Given the description of an element on the screen output the (x, y) to click on. 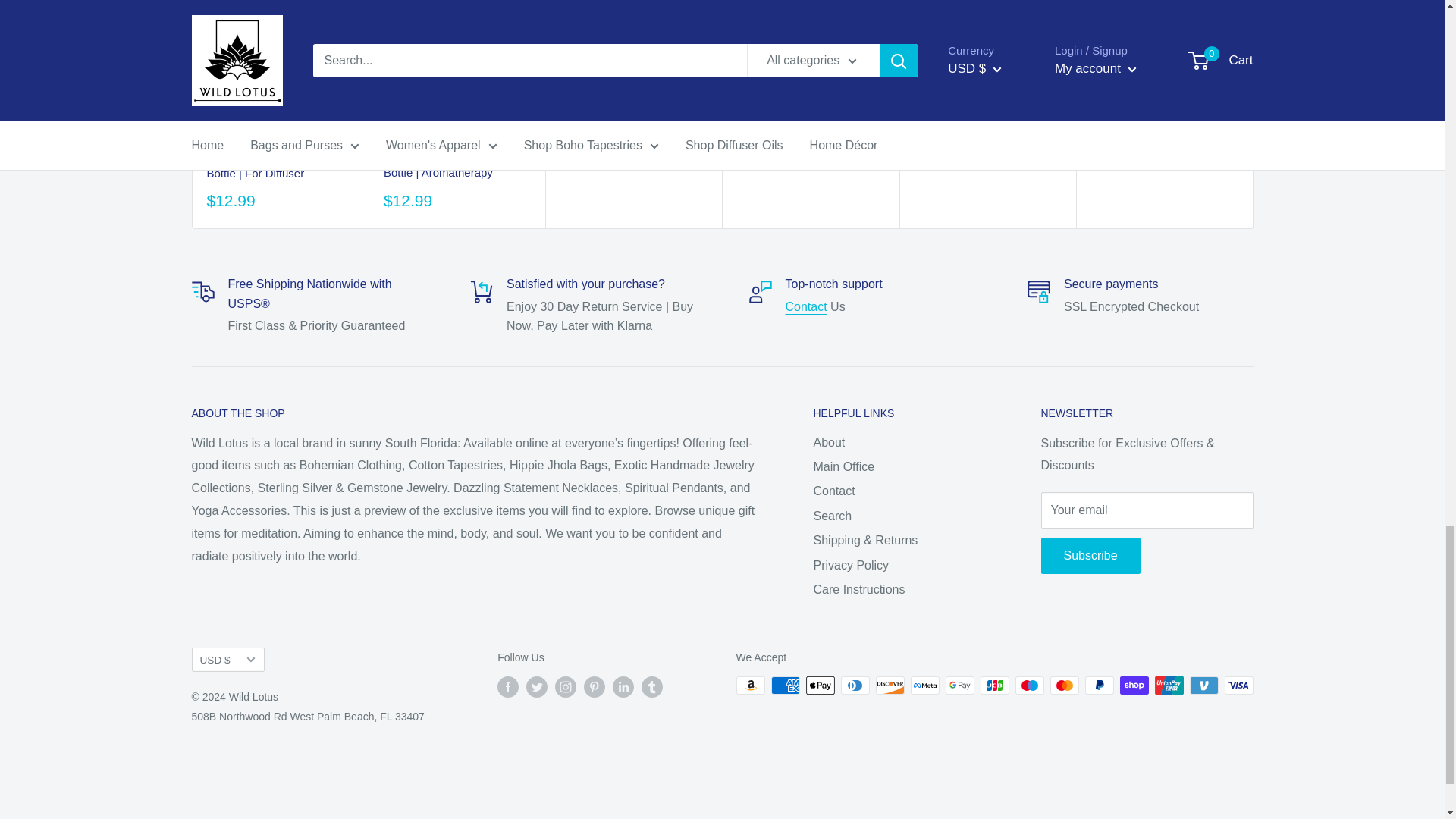
Brown (746, 37)
Contact Us (806, 306)
White (1101, 37)
